Given the description of an element on the screen output the (x, y) to click on. 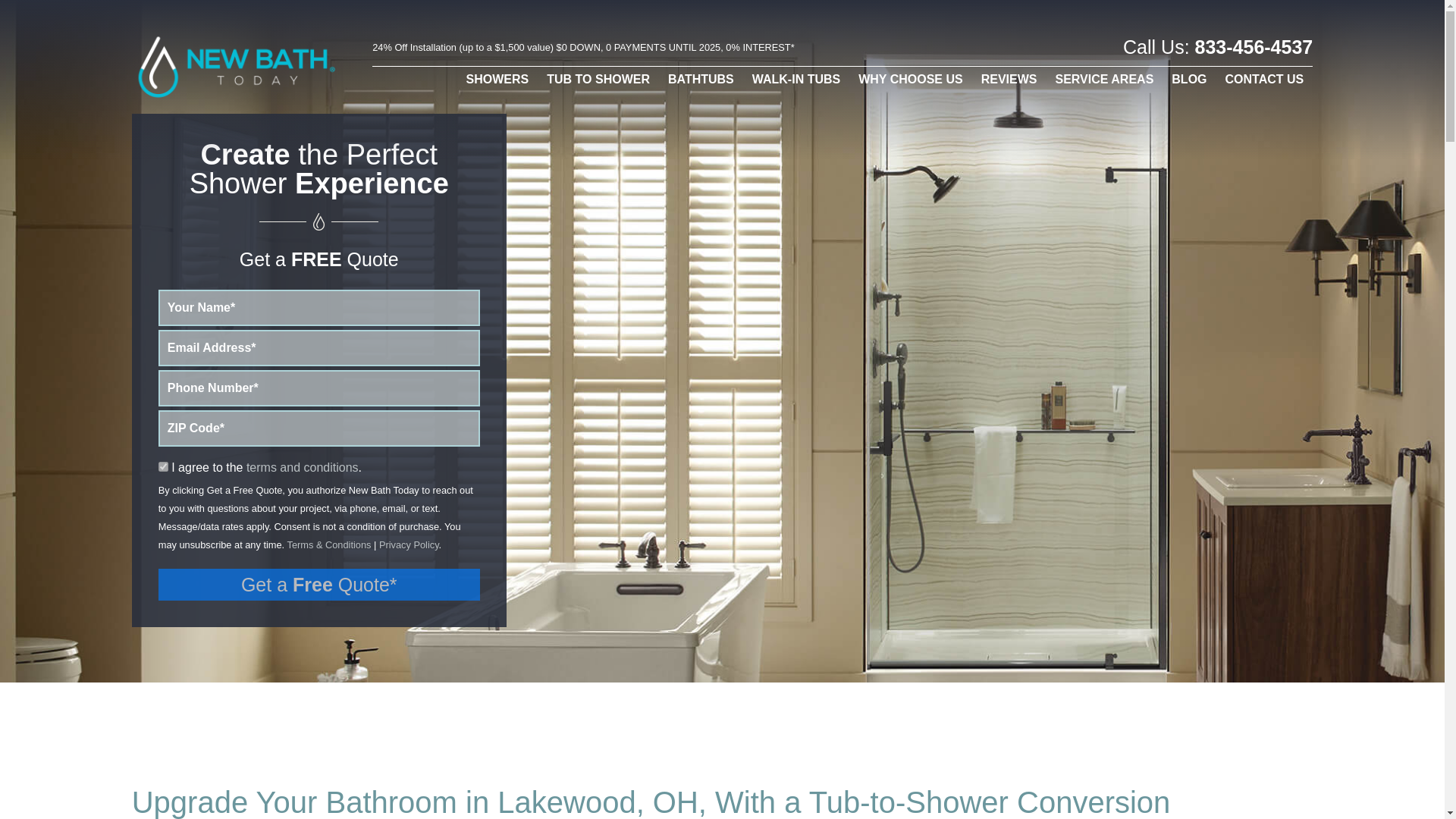
WHY CHOOSE US (910, 79)
BATHTUBS (700, 79)
SERVICE AREAS (1104, 79)
SHOWERS (497, 79)
Call Us: 833-456-4537 (1217, 47)
Privacy Policy (408, 543)
TUB TO SHOWER (598, 79)
terms and conditions (302, 467)
disclaimer-form (163, 465)
WALK-IN TUBS (795, 79)
New Bath Today (241, 65)
BLOG (1188, 79)
CONTACT US (1264, 79)
REVIEWS (1009, 79)
